Given the description of an element on the screen output the (x, y) to click on. 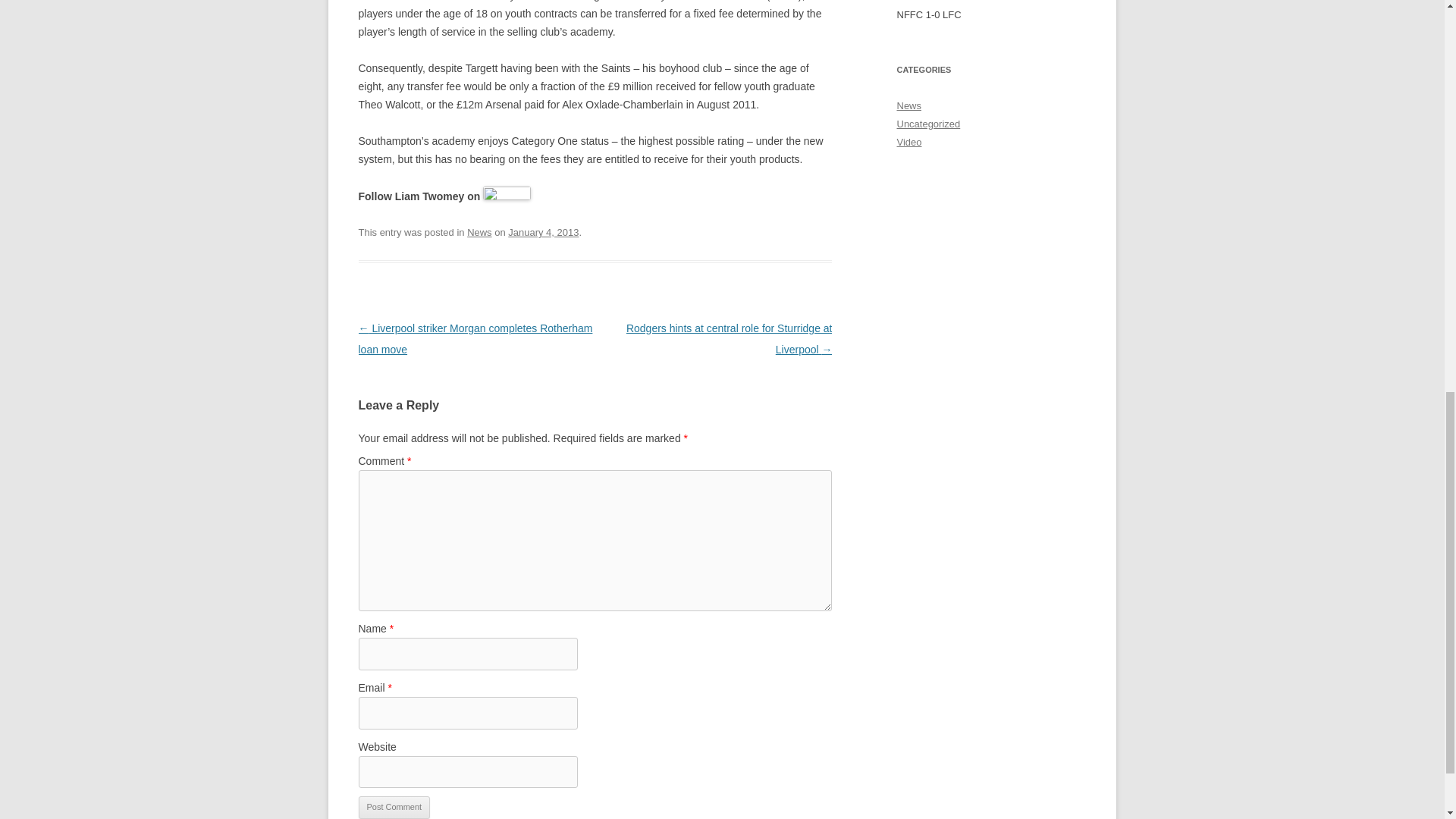
News (479, 232)
Video (908, 142)
January 4, 2013 (543, 232)
Uncategorized (927, 123)
News (908, 105)
10:32 am (543, 232)
